Given the description of an element on the screen output the (x, y) to click on. 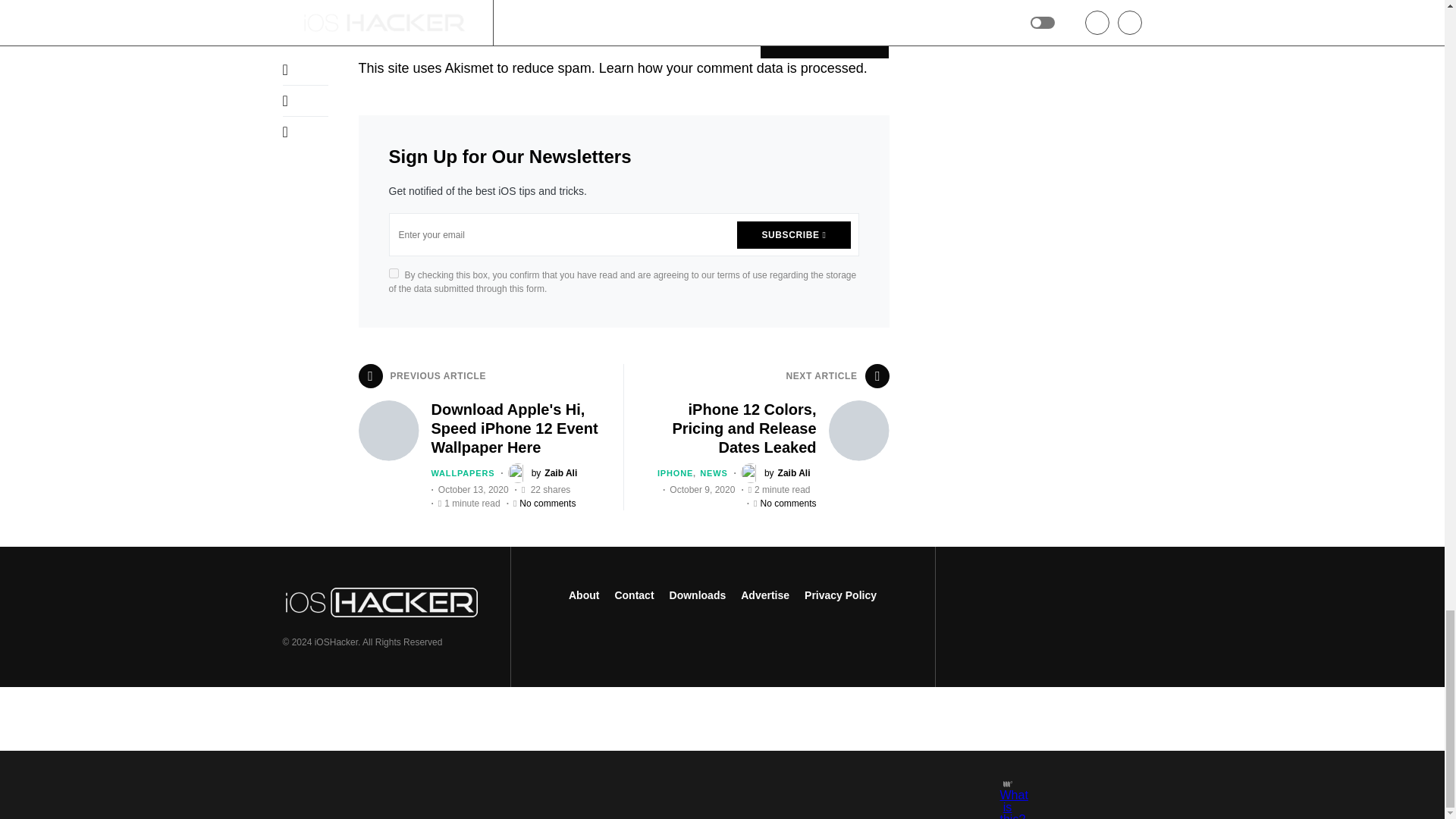
View all posts by Zaib Ali (543, 473)
subscribe (584, 31)
Post Comment (824, 40)
subscribe (363, 31)
on (392, 273)
View all posts by Zaib Ali (775, 473)
